Given the description of an element on the screen output the (x, y) to click on. 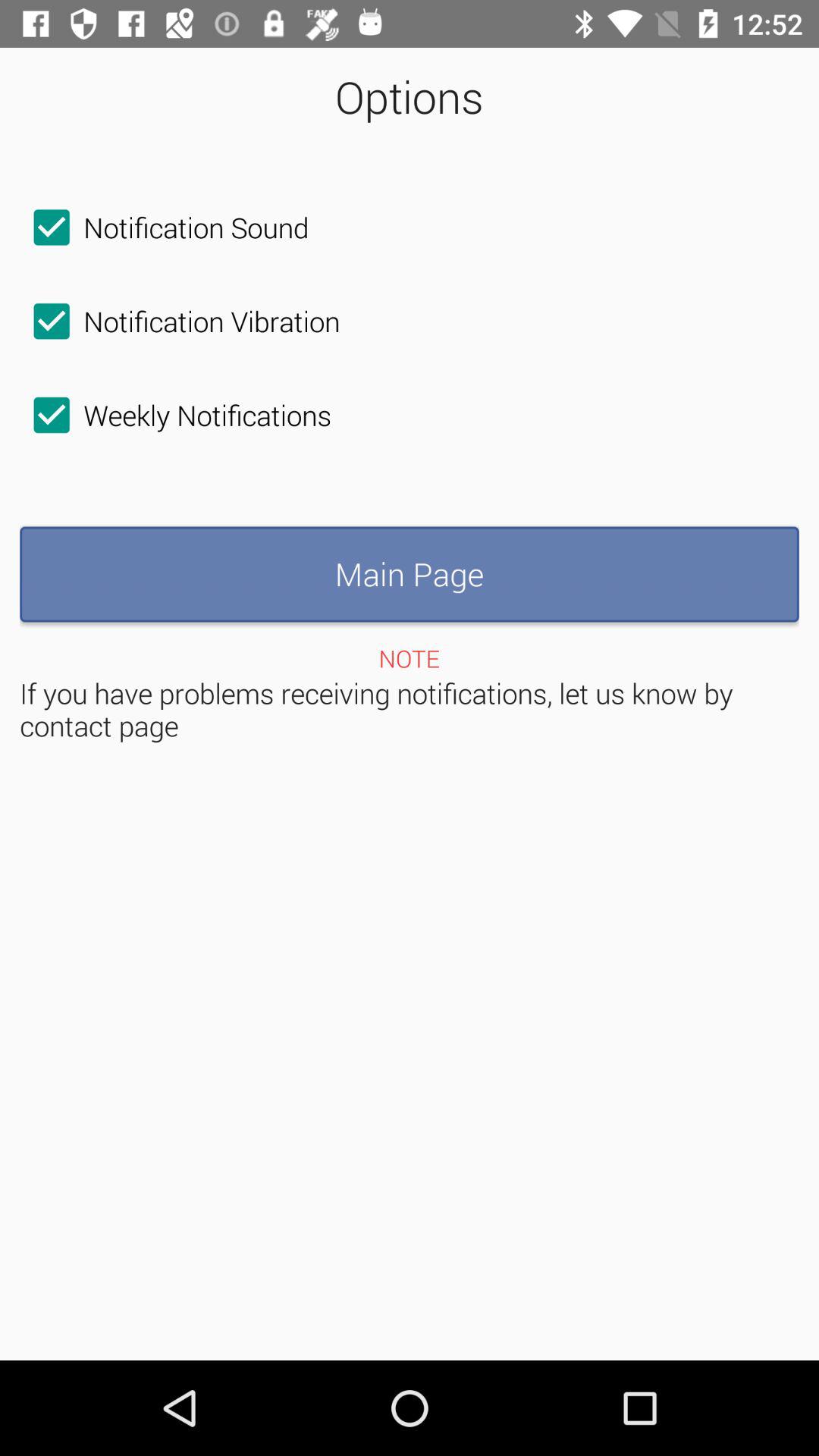
turn on weekly notifications (175, 415)
